Given the description of an element on the screen output the (x, y) to click on. 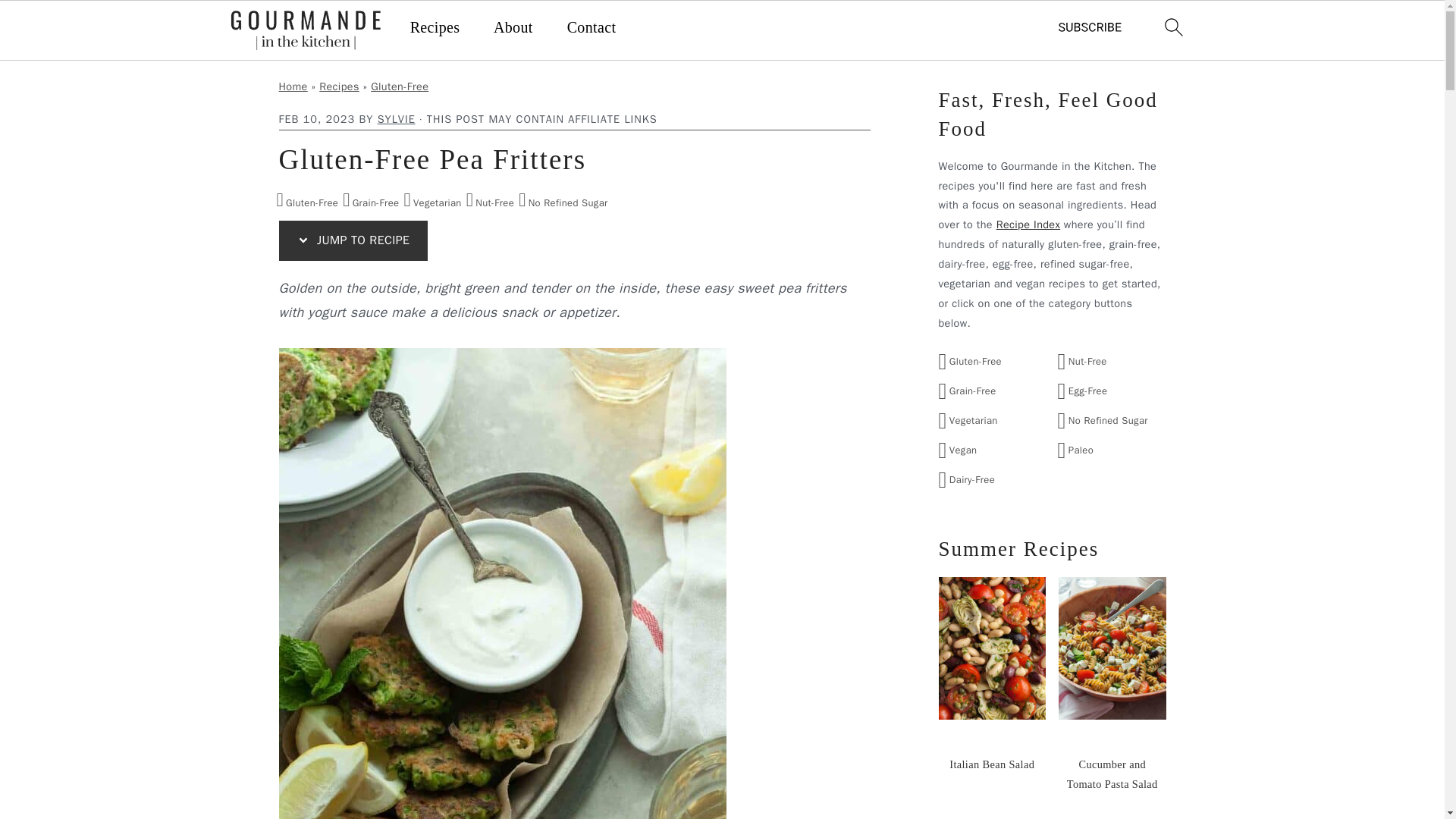
No Refined Sugar (564, 200)
Nut-Free (491, 200)
Vegetarian (434, 200)
Gluten-Free (309, 200)
Grain-Free (970, 390)
Gluten-Free (399, 86)
Dairy-Free (969, 479)
Nut-Free (1083, 360)
Vegan (960, 449)
Nut-Free (491, 200)
Home (293, 86)
Vegetarian (434, 200)
Grain-Free (372, 200)
Contact (591, 26)
